Given the description of an element on the screen output the (x, y) to click on. 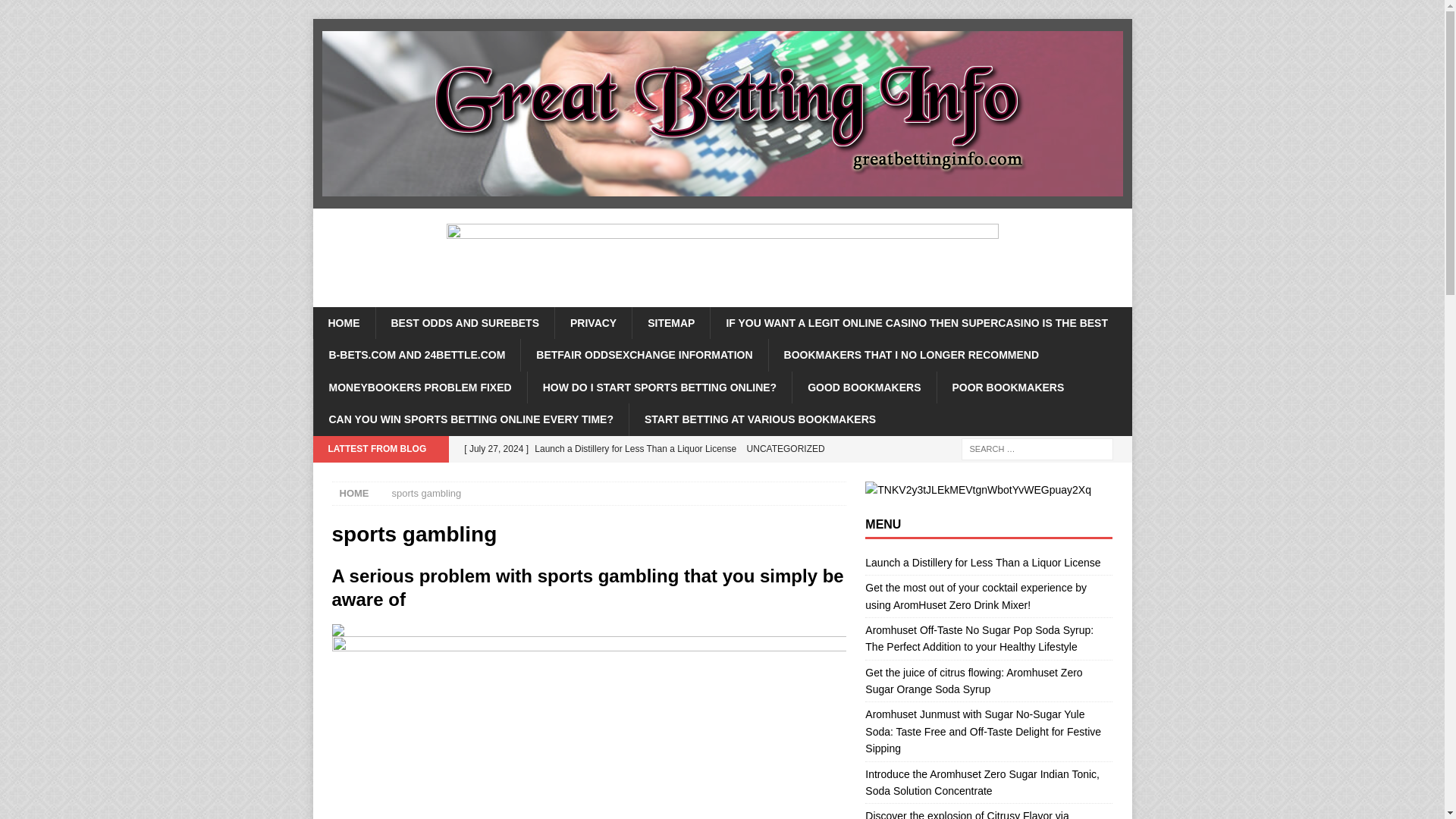
MONEYBOOKERS PROBLEM FIXED (419, 387)
TNKV2y3tJLEkMEVtgnWbotYvWEGpuay2Xq (977, 489)
Greatbettinginfo (722, 200)
HOME (343, 323)
START BETTING AT VARIOUS BOOKMAKERS (759, 418)
